Given the description of an element on the screen output the (x, y) to click on. 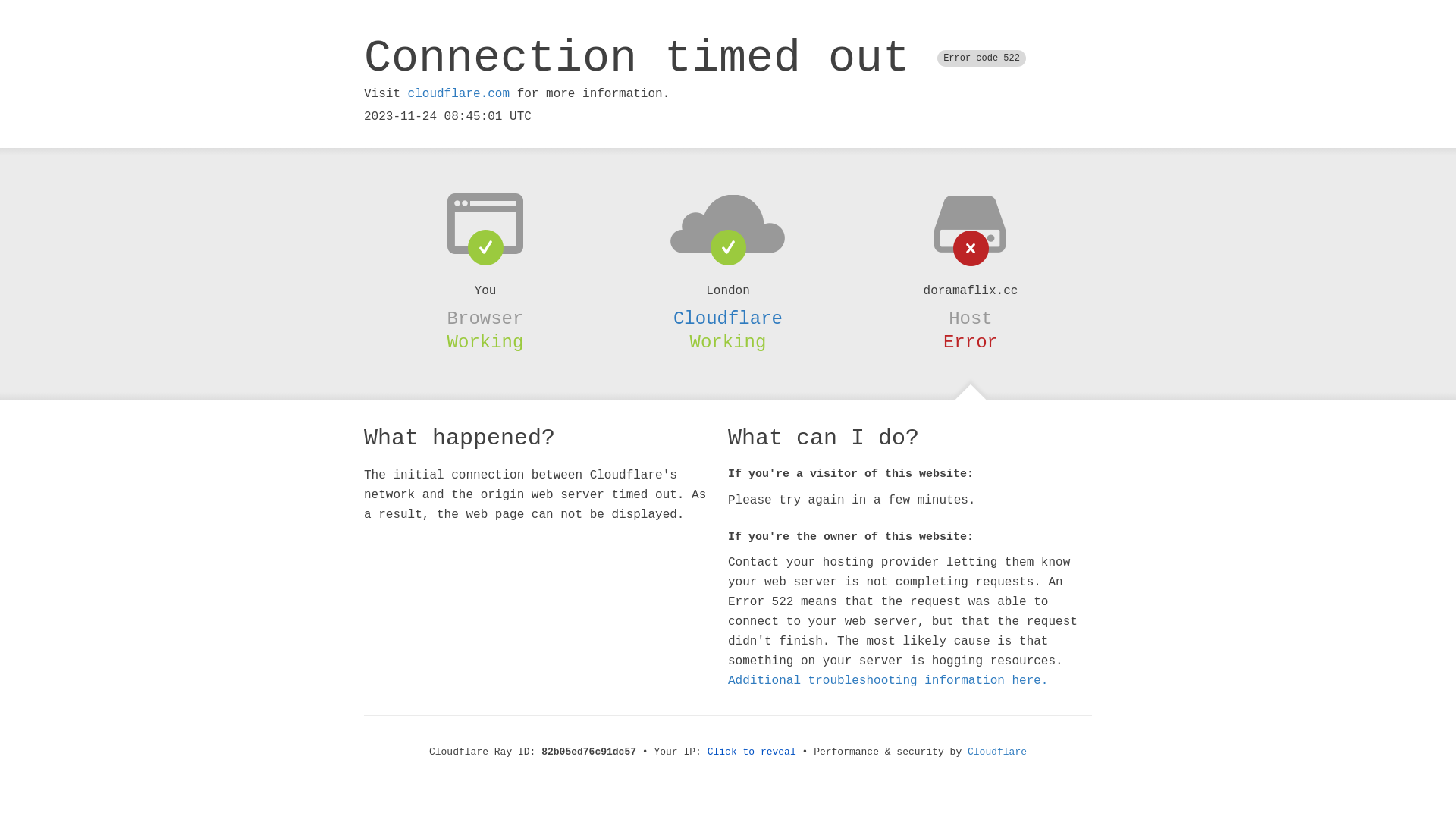
Additional troubleshooting information here. Element type: text (888, 680)
cloudflare.com Element type: text (458, 93)
Cloudflare Element type: text (727, 318)
Cloudflare Element type: text (996, 751)
Click to reveal Element type: text (751, 751)
